Given the description of an element on the screen output the (x, y) to click on. 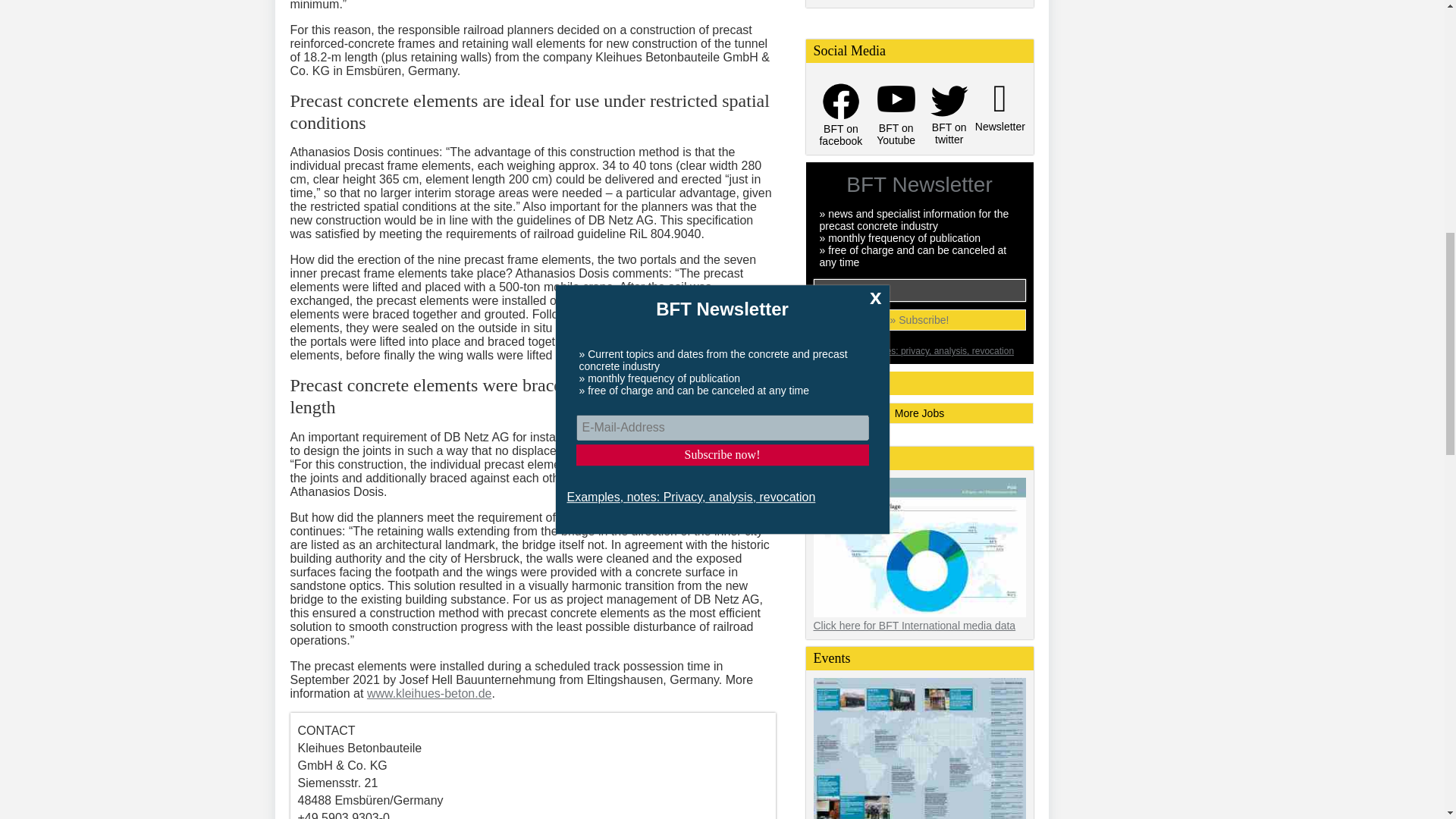
www.kleihues-beton.de (429, 693)
